Given the description of an element on the screen output the (x, y) to click on. 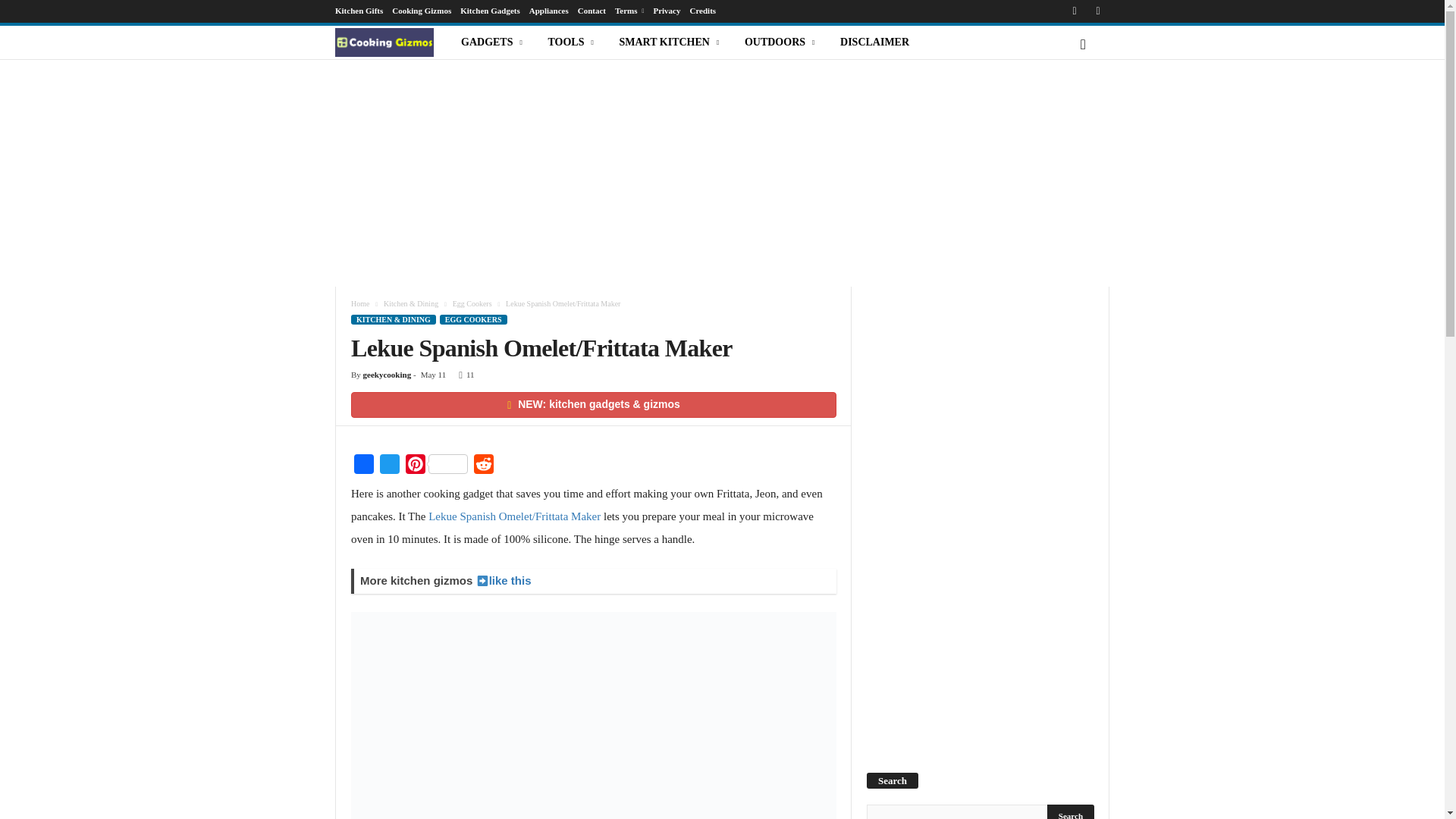
Kitchen Gadgets (489, 10)
Kitchen Gifts (358, 10)
Appliances (549, 10)
Search (1070, 811)
Cooking Gizmos (421, 10)
